Given the description of an element on the screen output the (x, y) to click on. 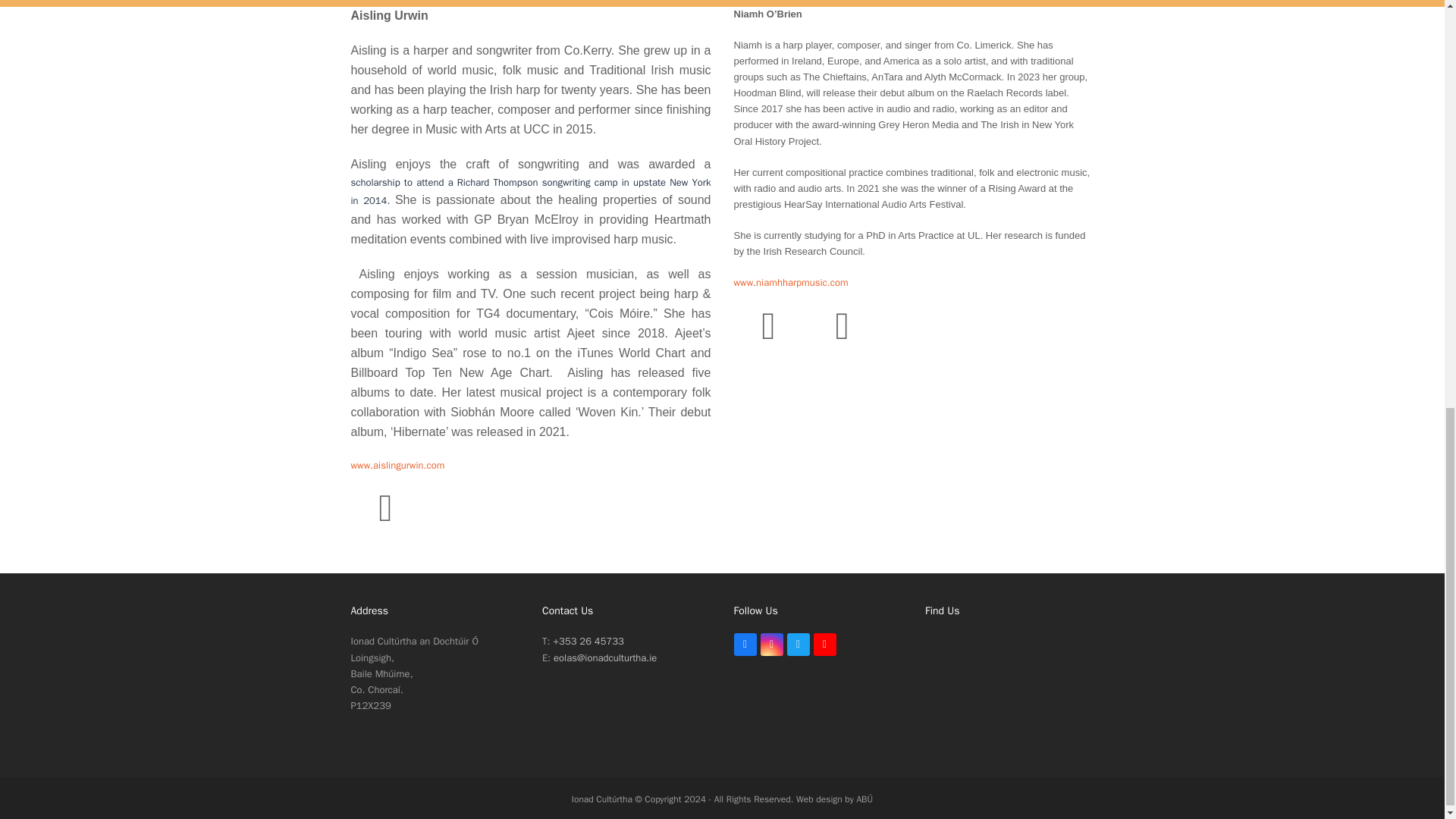
YouTube (823, 644)
Instagram (771, 644)
Instagram (771, 644)
Google Map (1009, 689)
Instagram (385, 507)
www.aislingurwin.com (397, 464)
Twitter (842, 325)
www.niamhharpmusic.com (790, 282)
Twitter (798, 644)
Twitter (842, 325)
Twitter (798, 644)
Instagram (768, 325)
Instagram (385, 507)
Facebook (745, 644)
YouTube (823, 644)
